Given the description of an element on the screen output the (x, y) to click on. 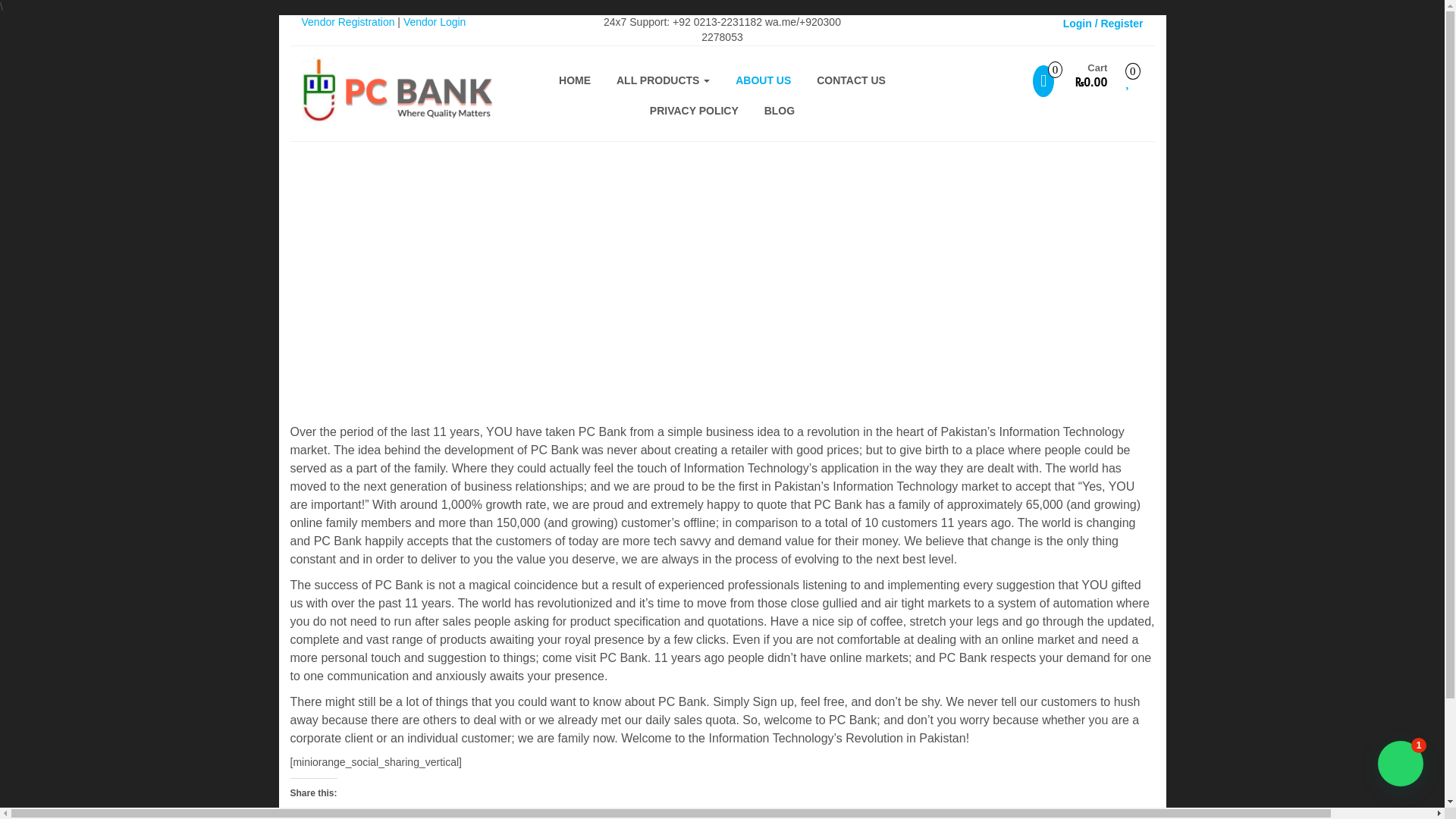
Vendor Registration (347, 21)
HOME (574, 80)
Home (574, 80)
ALL PRODUCTS (662, 80)
All Products (662, 80)
Vendor Login (434, 21)
View your shopping cart (1069, 82)
